Given the description of an element on the screen output the (x, y) to click on. 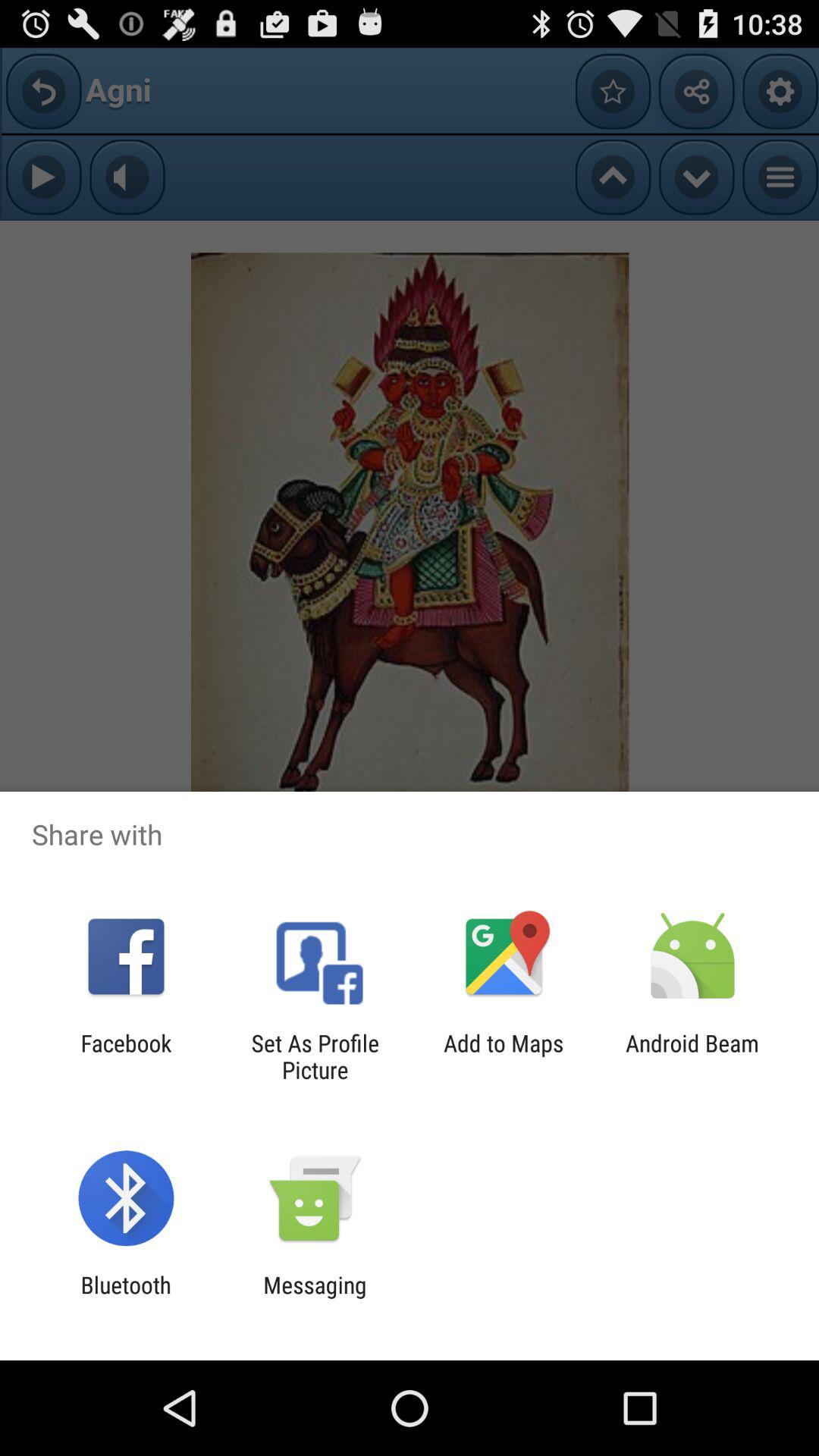
tap item next to facebook item (314, 1056)
